Given the description of an element on the screen output the (x, y) to click on. 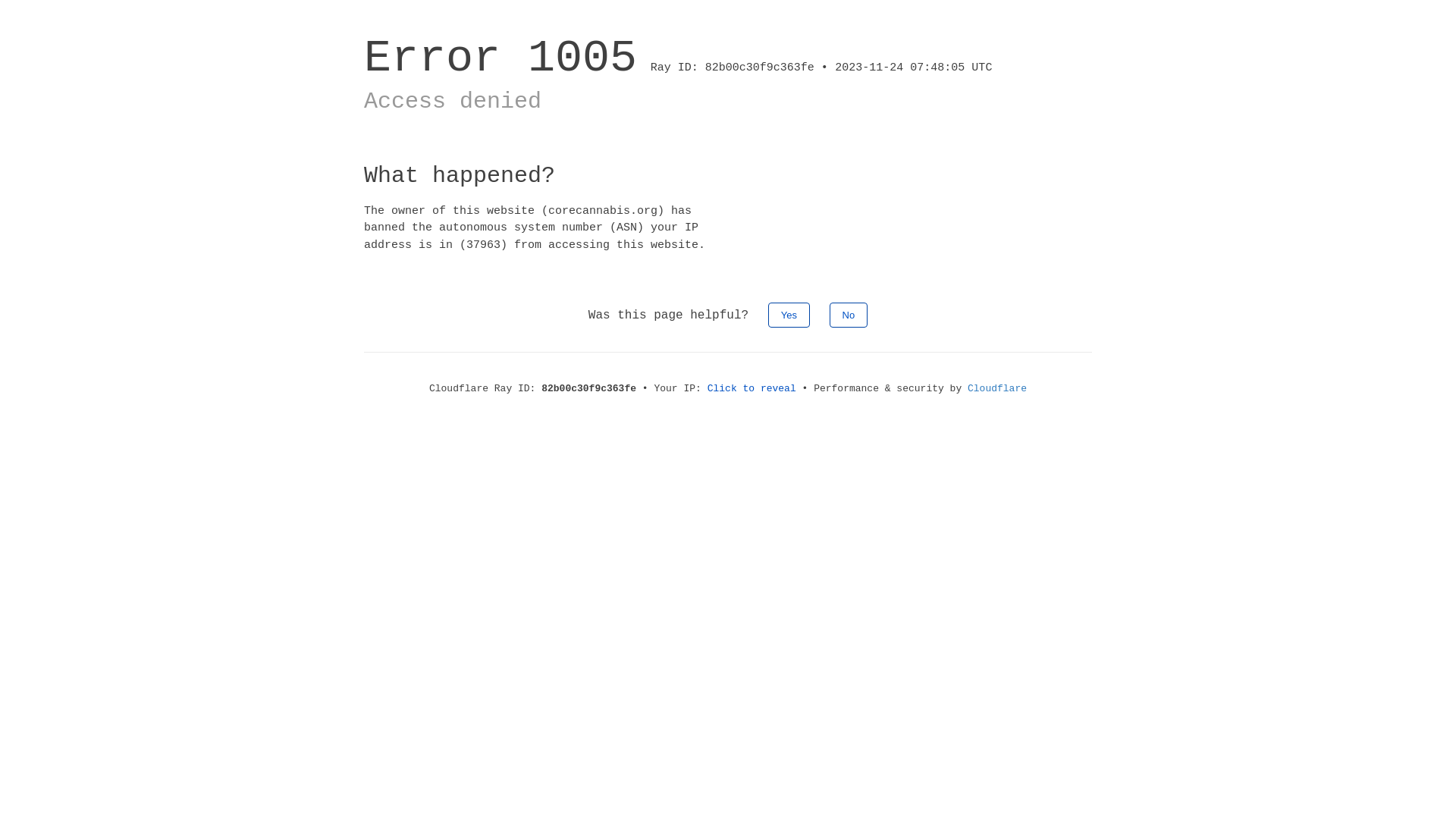
Yes Element type: text (788, 314)
Cloudflare Element type: text (996, 388)
Click to reveal Element type: text (751, 388)
No Element type: text (848, 314)
